Given the description of an element on the screen output the (x, y) to click on. 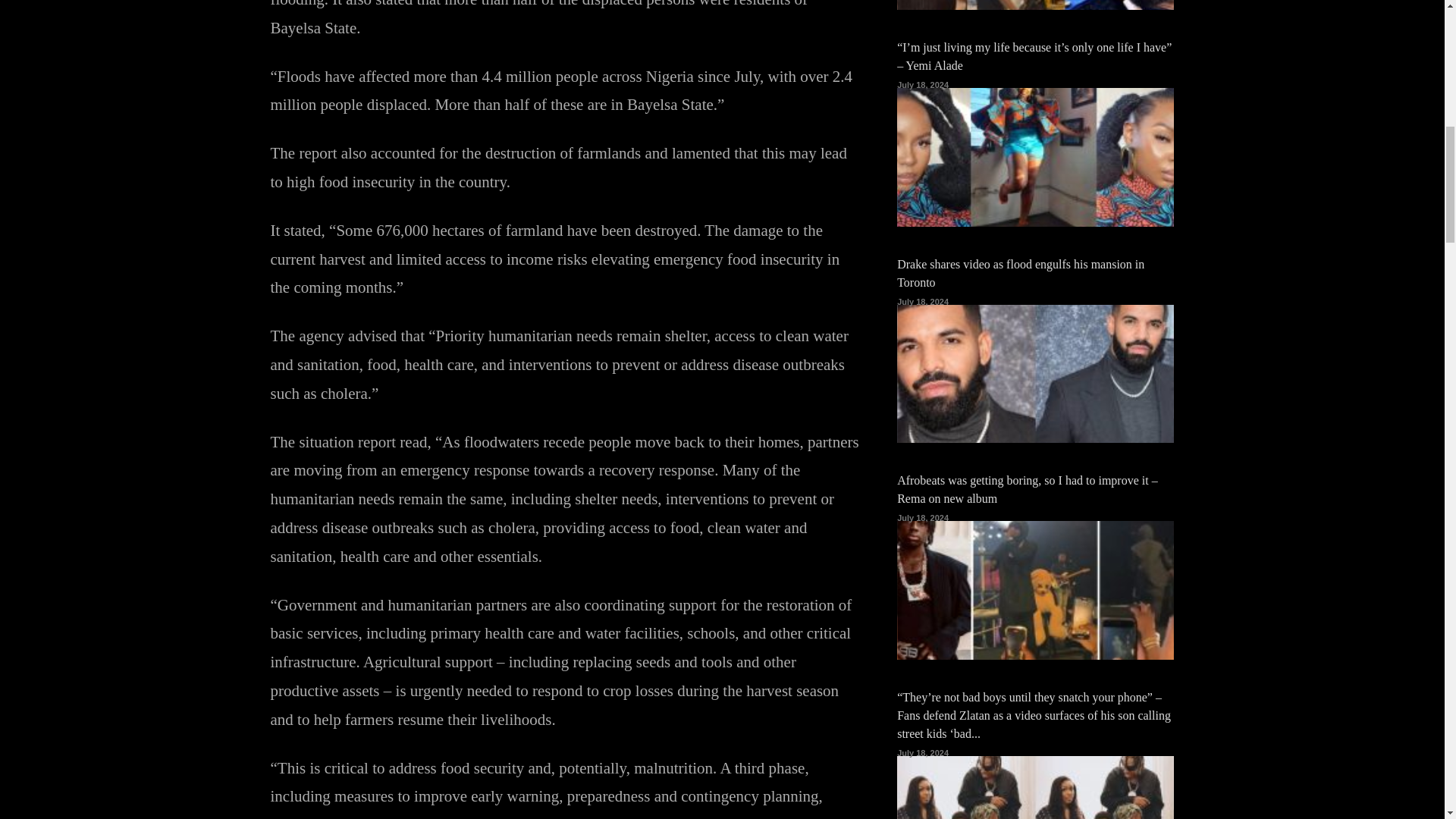
Drake shares video as flood engulfs his mansion in Toronto (1020, 273)
